Given the description of an element on the screen output the (x, y) to click on. 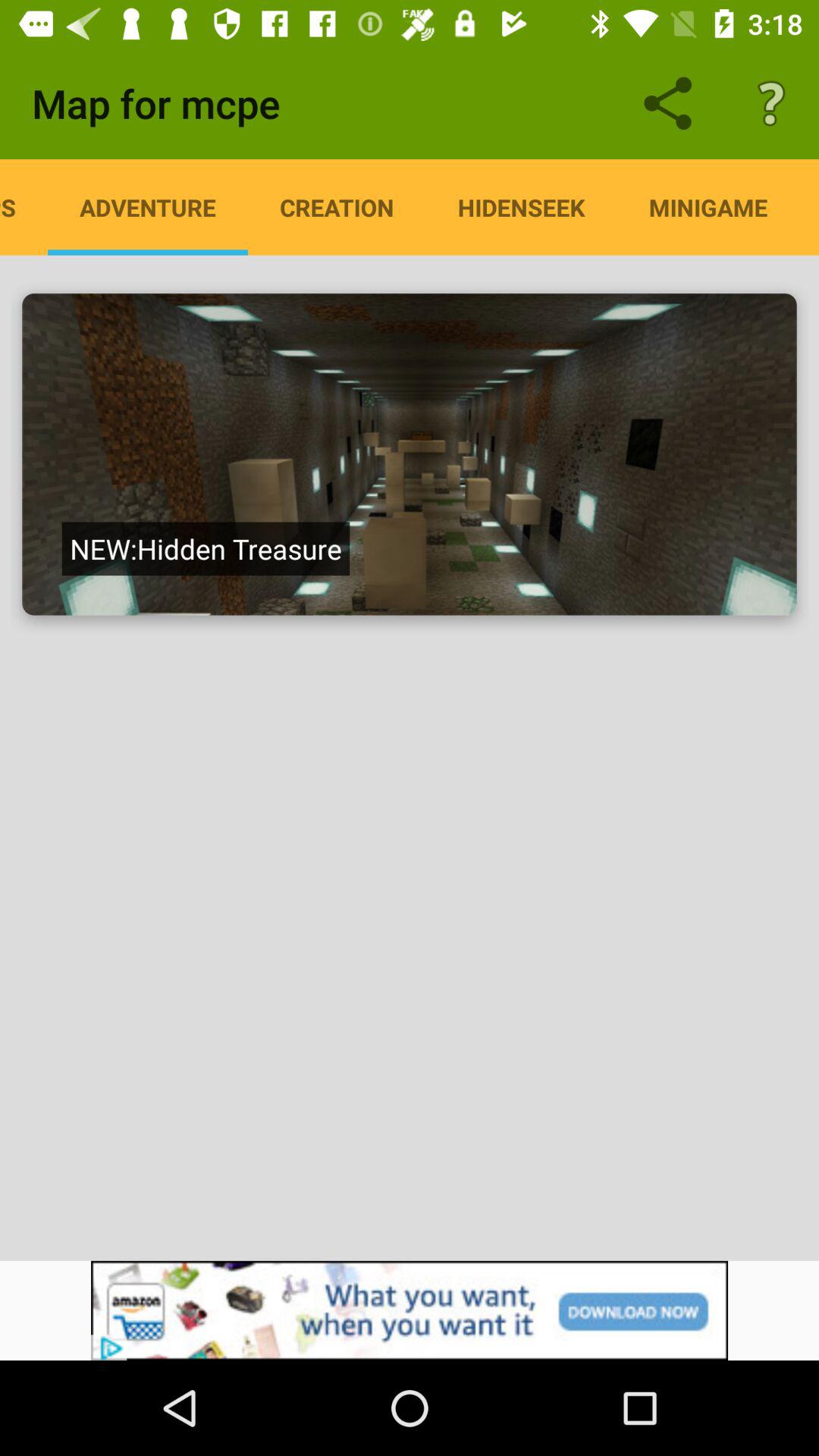
screen button (409, 454)
